Given the description of an element on the screen output the (x, y) to click on. 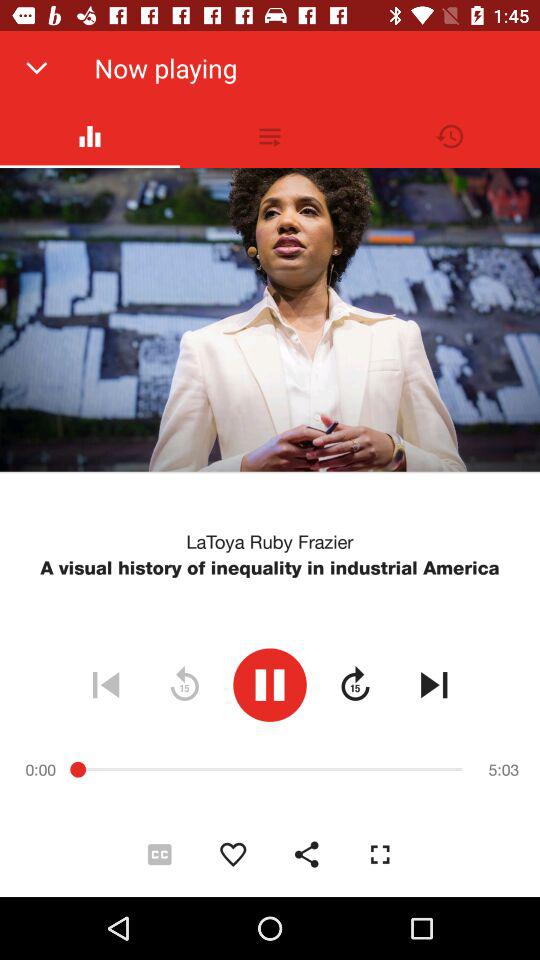
scroll to the a visual history icon (269, 568)
